Given the description of an element on the screen output the (x, y) to click on. 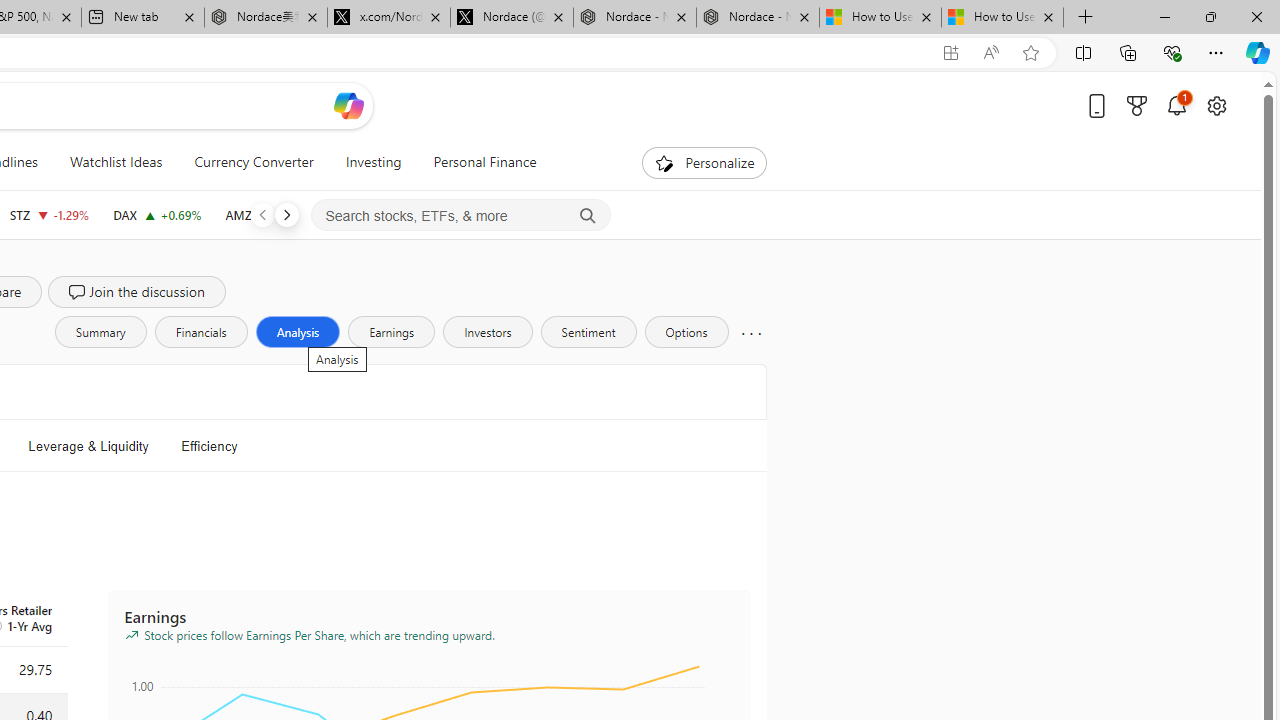
Personalize (703, 162)
Investors (487, 331)
App available. Install Start Money (950, 53)
Sentiment (588, 331)
Leverage & Liquidity (88, 445)
Efficiency (208, 445)
Watchlist Ideas (115, 162)
Search stocks, ETFs, & more (461, 215)
Investing (373, 162)
Options (686, 331)
